Given the description of an element on the screen output the (x, y) to click on. 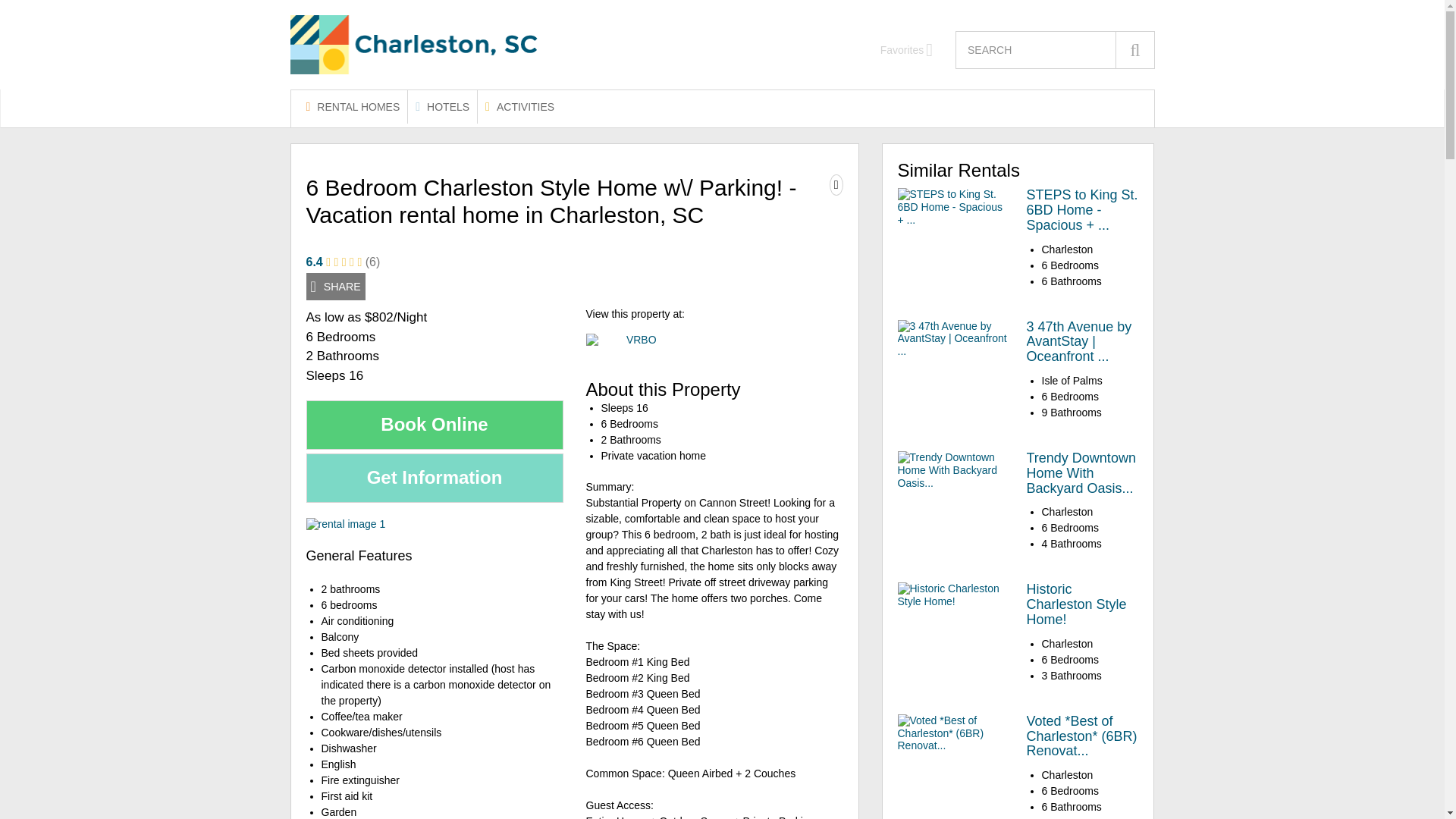
RENTAL HOMES (352, 106)
ACTIVITIES (519, 106)
HOTELS (442, 106)
Favorites (906, 49)
SHARE (335, 286)
Book Online (434, 424)
Get Information (434, 477)
